Given the description of an element on the screen output the (x, y) to click on. 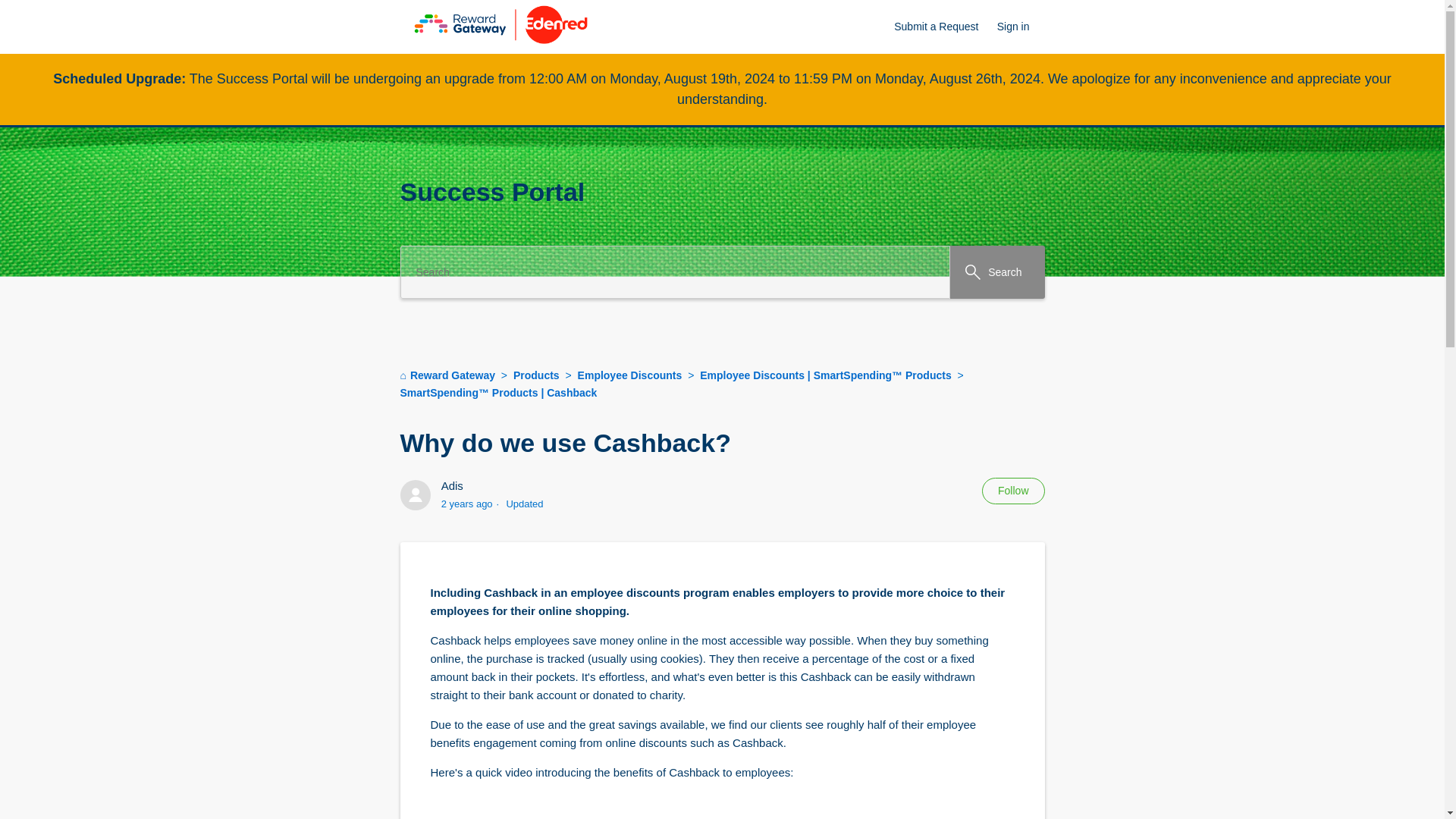
Employee Discounts (630, 375)
Follow (1012, 490)
Search (996, 271)
Search (996, 271)
Why do we use Cashback? (722, 443)
Opens a dialog (1021, 26)
Sign in (1021, 26)
Submit a Request (942, 26)
Reward Gateway (448, 375)
Products (537, 375)
Employee Discounts (623, 375)
Reward Gateway (447, 375)
Products  (529, 375)
Opens a sign-in dialog (1012, 490)
Home (500, 52)
